Given the description of an element on the screen output the (x, y) to click on. 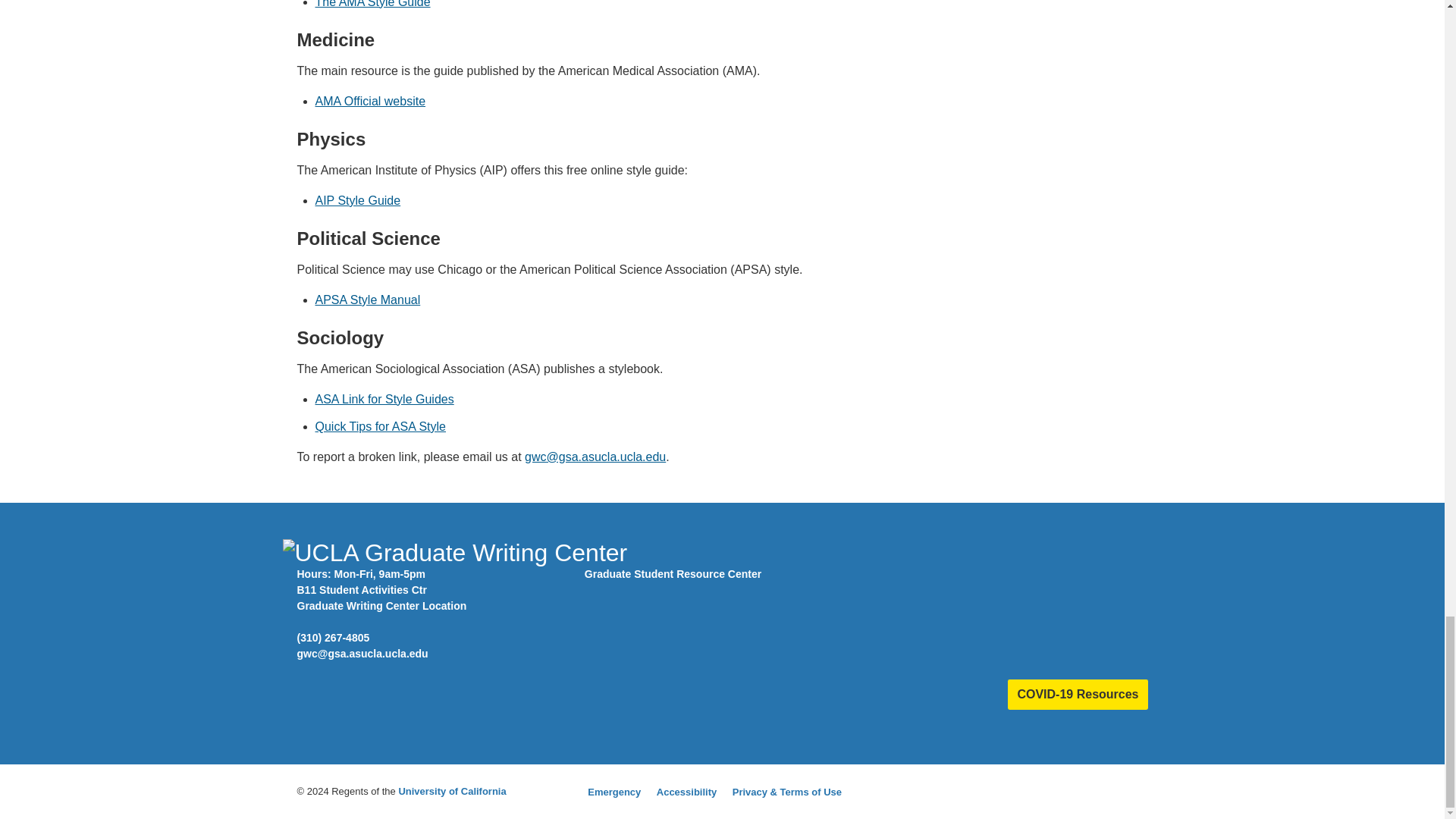
Quick Tips for ASA Style (380, 426)
ASA Link for Style Guides (384, 399)
AIP Style Guide (358, 200)
APSA Style Manual (367, 299)
The AMA Style Guide (372, 4)
AMA Official website (370, 101)
